Given the description of an element on the screen output the (x, y) to click on. 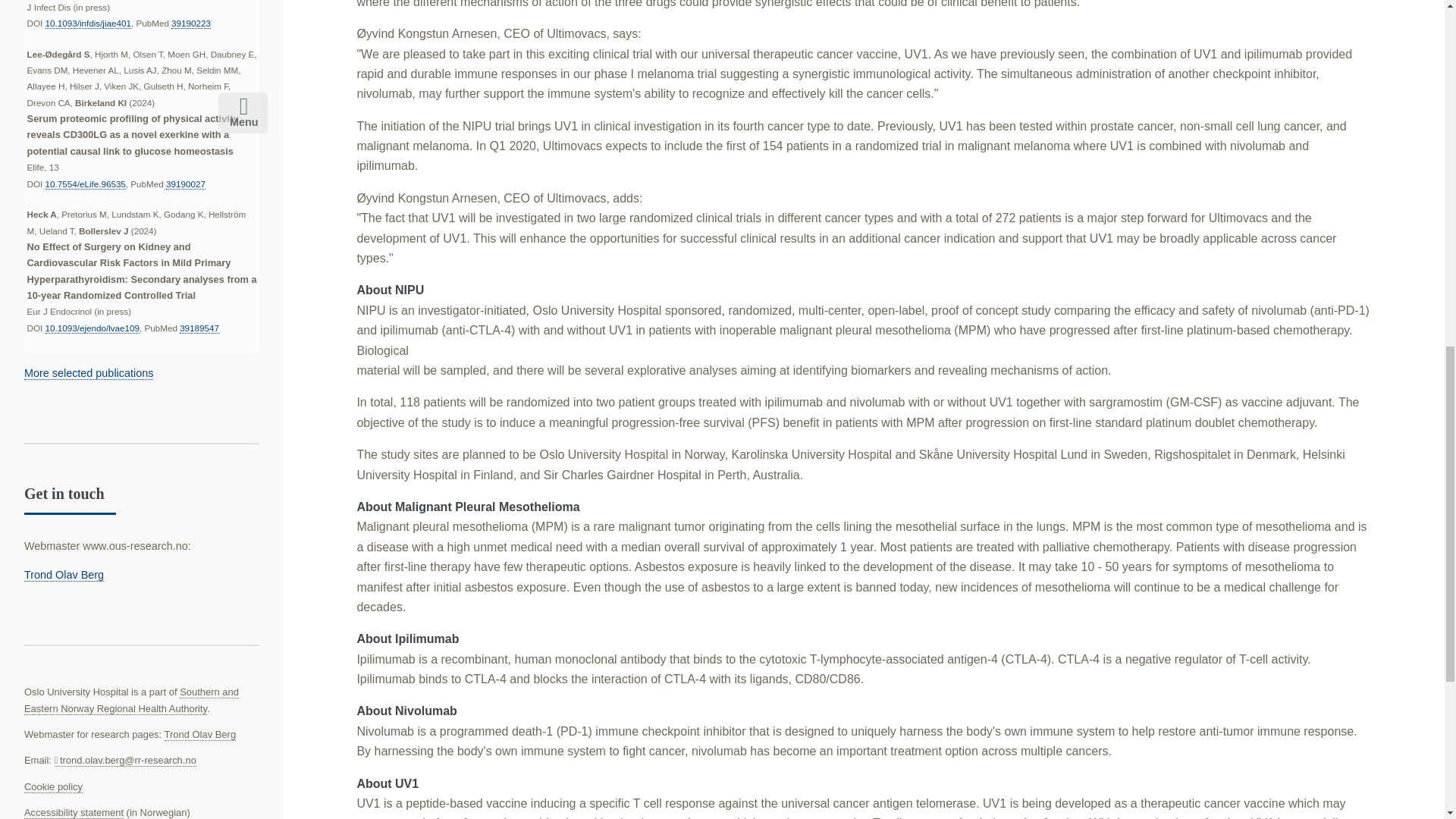
39190223 (191, 23)
39189547 (199, 327)
39190027 (185, 184)
